Given the description of an element on the screen output the (x, y) to click on. 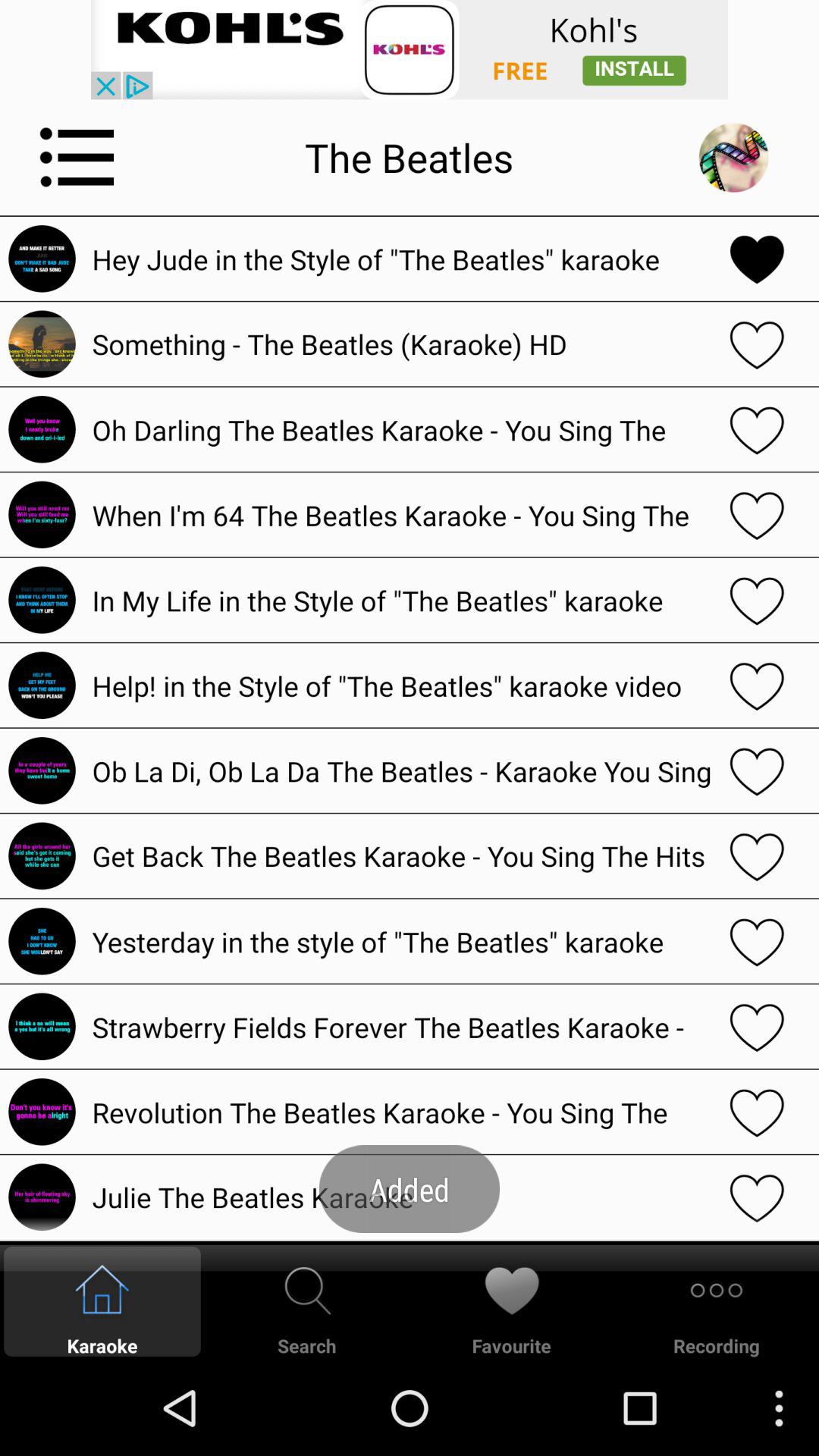
add to favorites (756, 855)
